Given the description of an element on the screen output the (x, y) to click on. 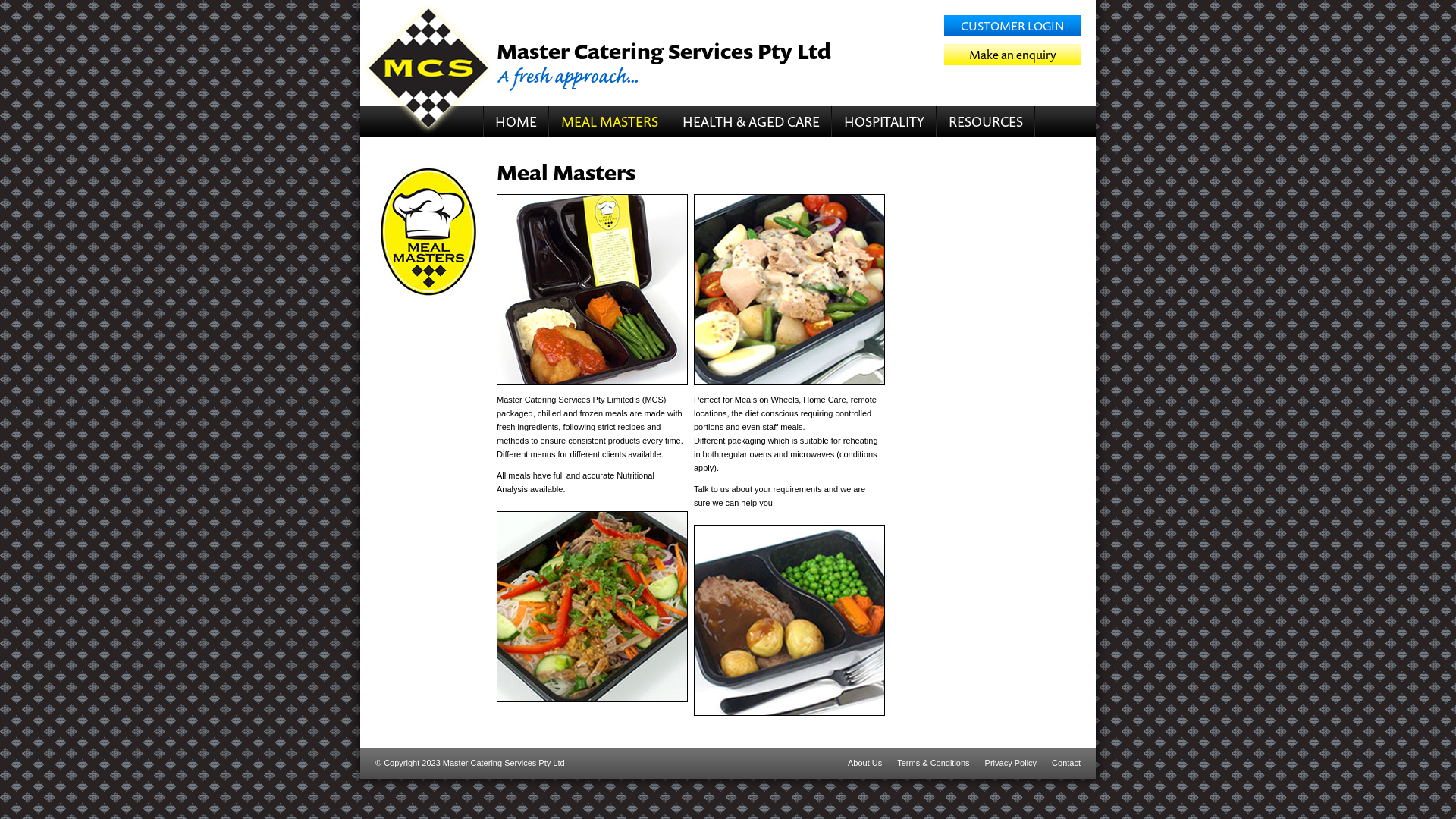
Privacy Policy Element type: text (1010, 762)
Contact Element type: text (1065, 762)
About Us Element type: text (864, 762)
MEAL MASTERS Element type: text (609, 121)
RESOURCES Element type: text (985, 121)
Make an enquiry Element type: text (1012, 54)
Terms & Conditions Element type: text (933, 762)
HEALTH & AGED CARE Element type: text (750, 121)
CUSTOMER LOGIN Element type: text (1012, 25)
HOME Element type: text (516, 121)
HOSPITALITY Element type: text (883, 121)
